Given the description of an element on the screen output the (x, y) to click on. 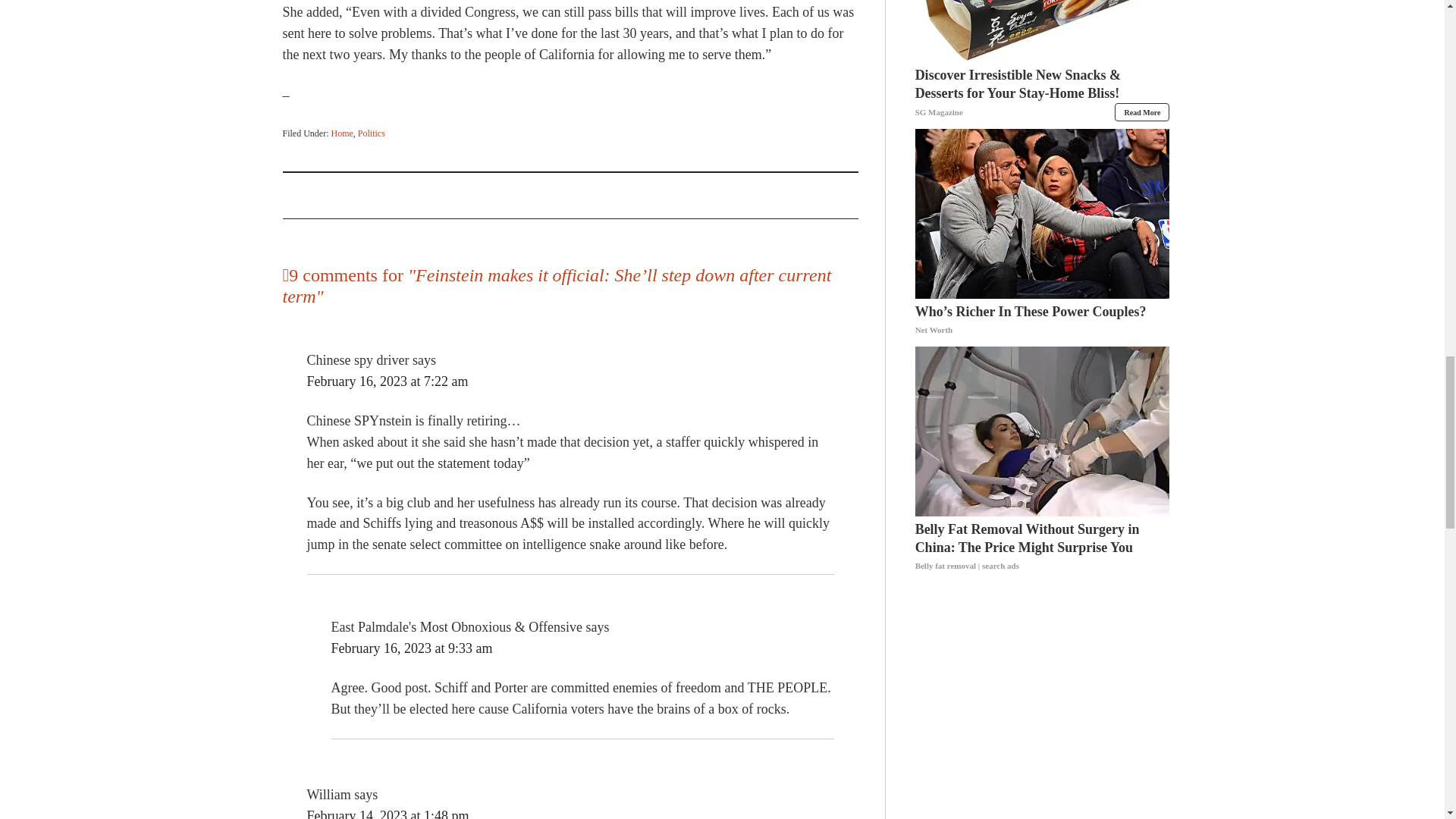
February 16, 2023 at 7:22 am (386, 381)
Home (341, 132)
February 14, 2023 at 1:48 pm (386, 813)
Politics (371, 132)
February 16, 2023 at 9:33 am (411, 648)
